Given the description of an element on the screen output the (x, y) to click on. 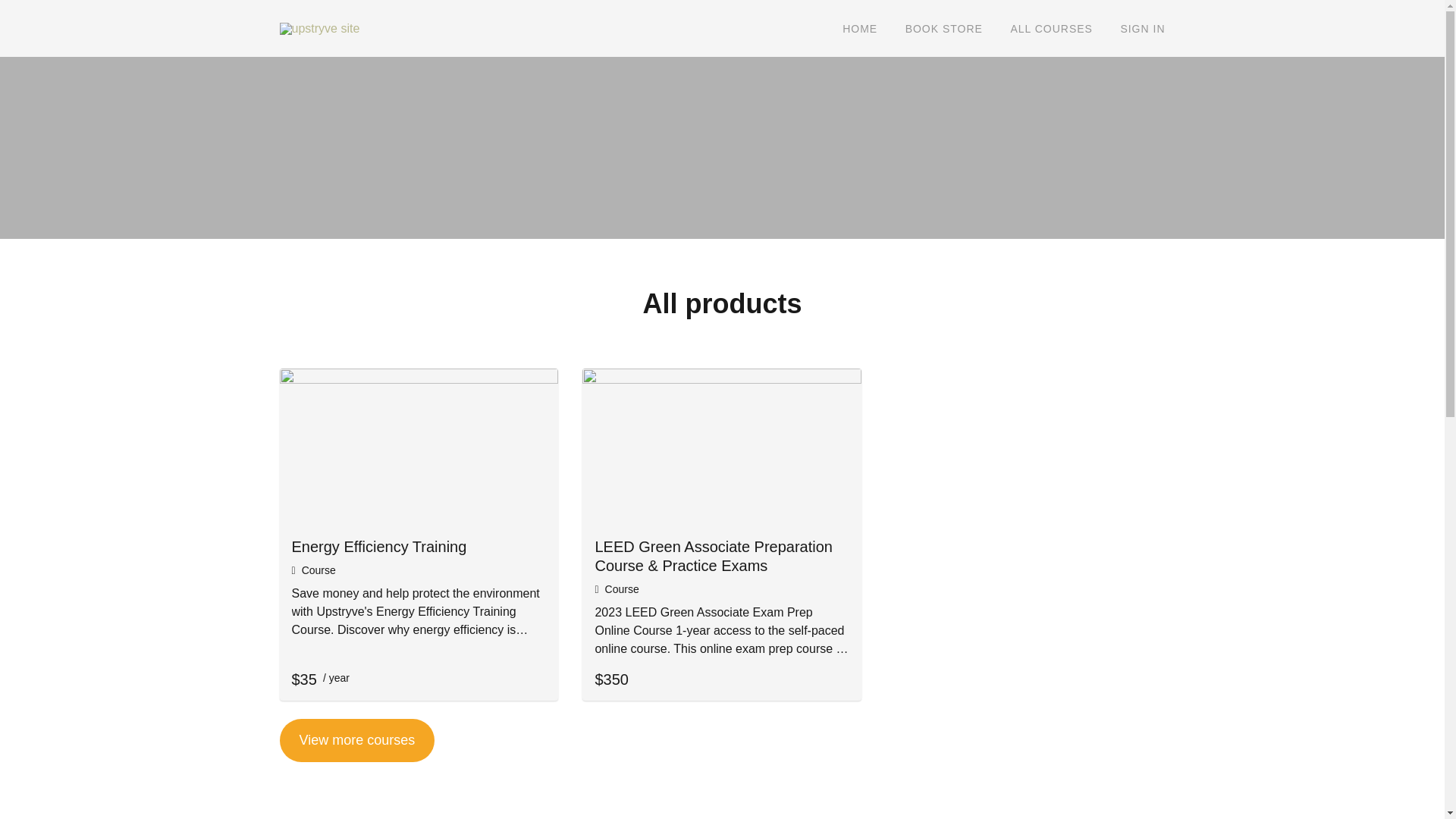
View more courses (356, 740)
SIGN IN (1141, 28)
ALL COURSES (1051, 28)
BOOK STORE (943, 28)
Upstryve (352, 28)
HOME (860, 28)
